Given the description of an element on the screen output the (x, y) to click on. 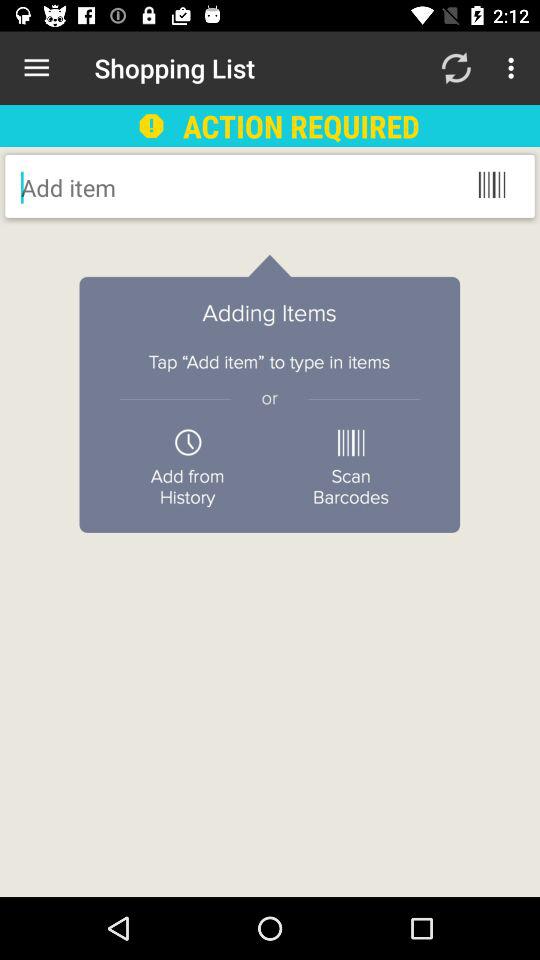
choose the icon next to the action required item (455, 67)
